Given the description of an element on the screen output the (x, y) to click on. 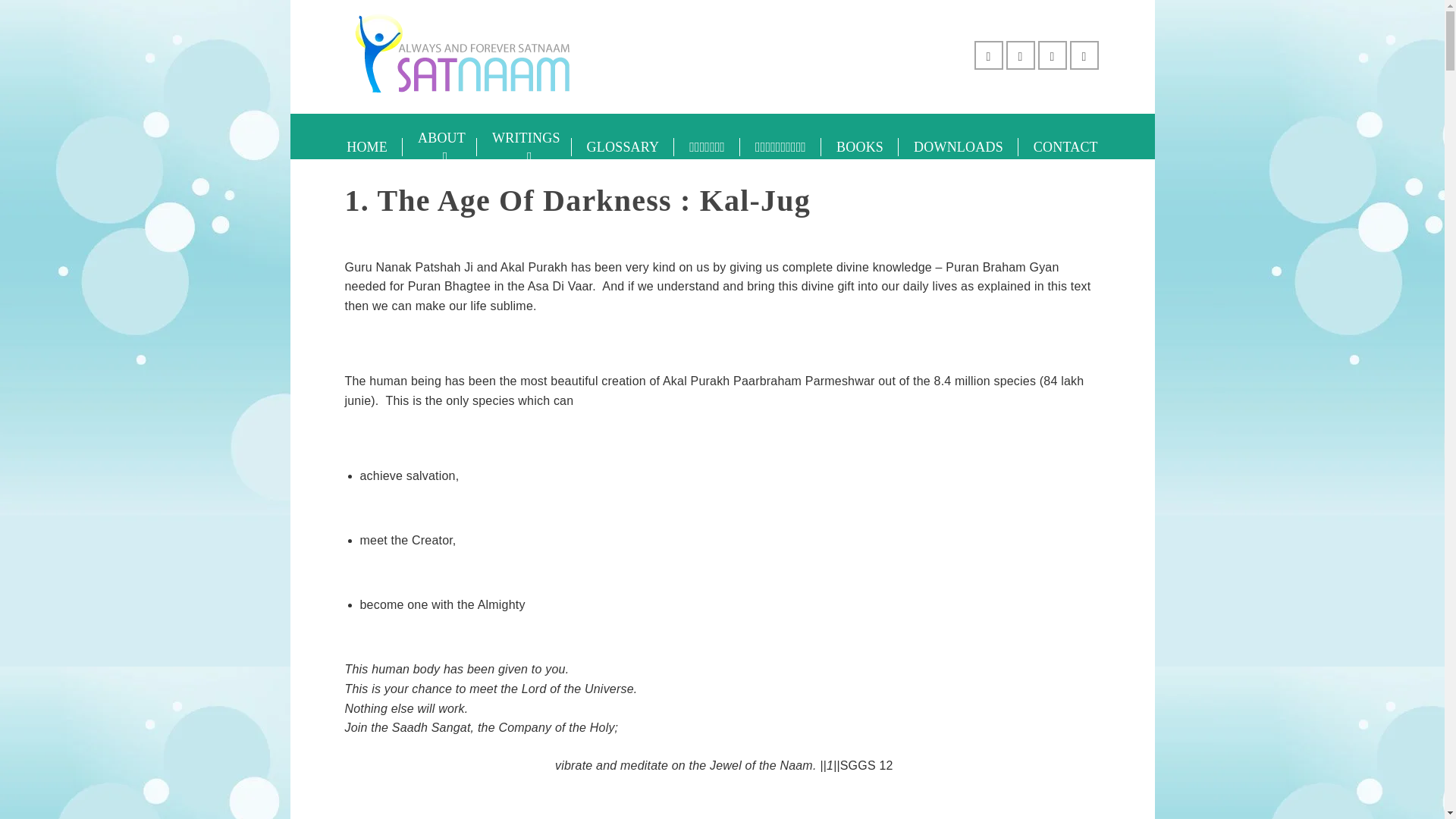
ABOUT (440, 146)
WRITINGS (524, 146)
CONTACT (1065, 146)
GLOSSARY (623, 146)
BOOKS (859, 146)
DOWNLOADS (957, 146)
HOME (367, 146)
